Given the description of an element on the screen output the (x, y) to click on. 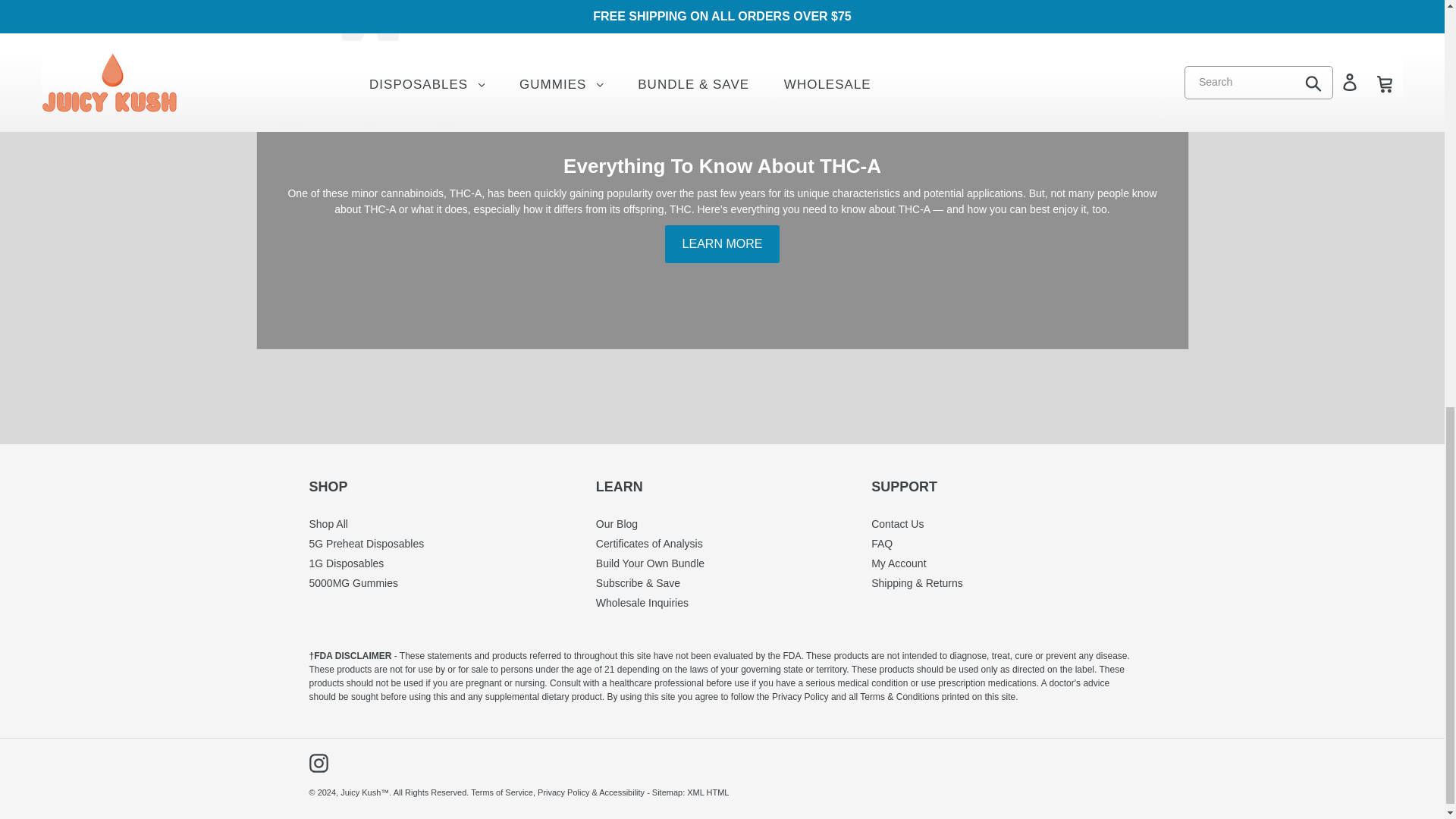
5G Preheat Disposables (366, 543)
1G Disposables (346, 563)
5000MG Gummies (352, 582)
LEARN MORE (722, 243)
Shop All (327, 523)
